Given the description of an element on the screen output the (x, y) to click on. 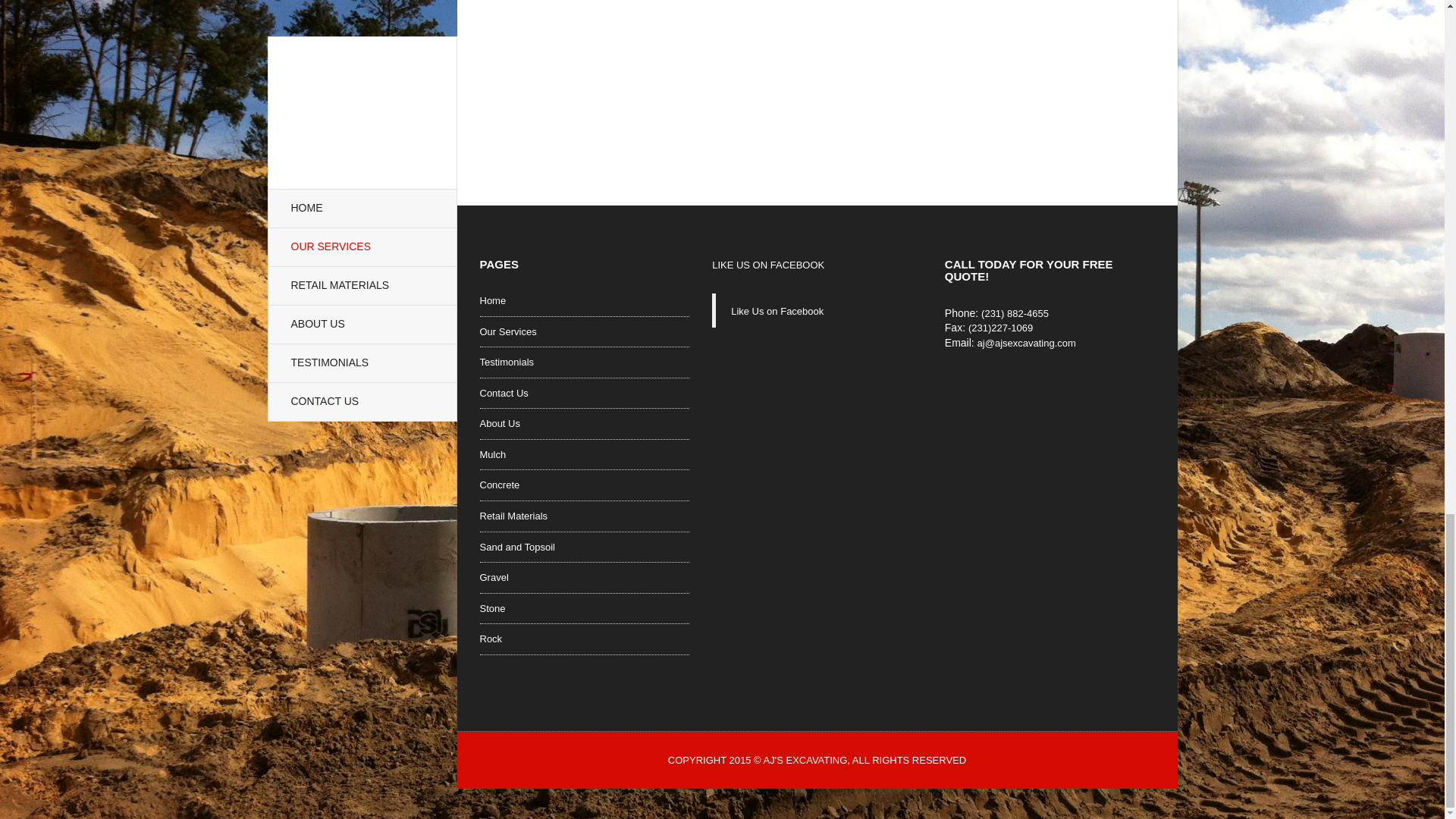
Concrete (499, 489)
Our Services (507, 336)
Contact Us (503, 397)
Mulch (492, 458)
Home (492, 305)
Testimonials (506, 366)
About Us (499, 427)
